Given the description of an element on the screen output the (x, y) to click on. 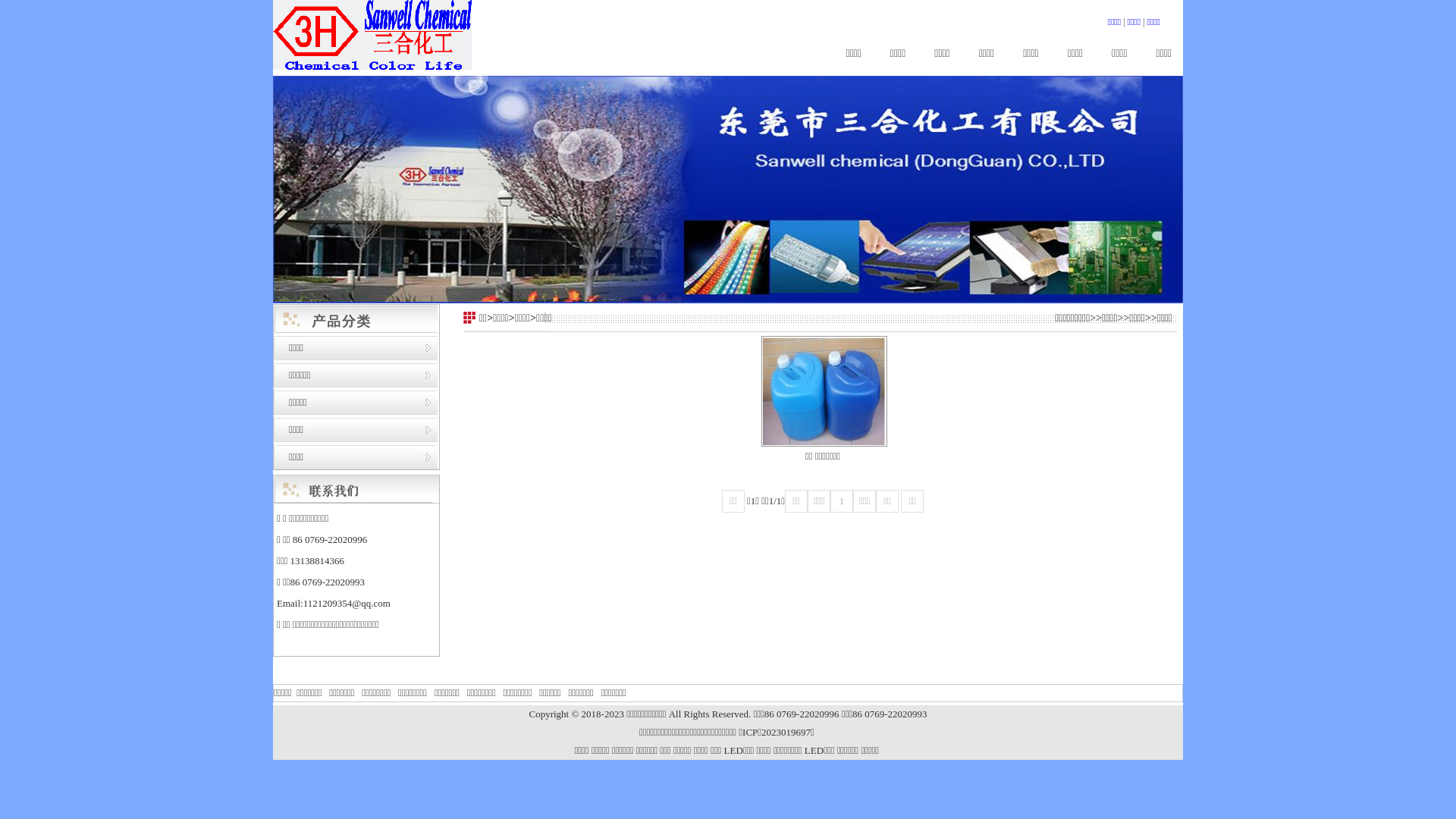
1 Element type: text (841, 500)
